Given the description of an element on the screen output the (x, y) to click on. 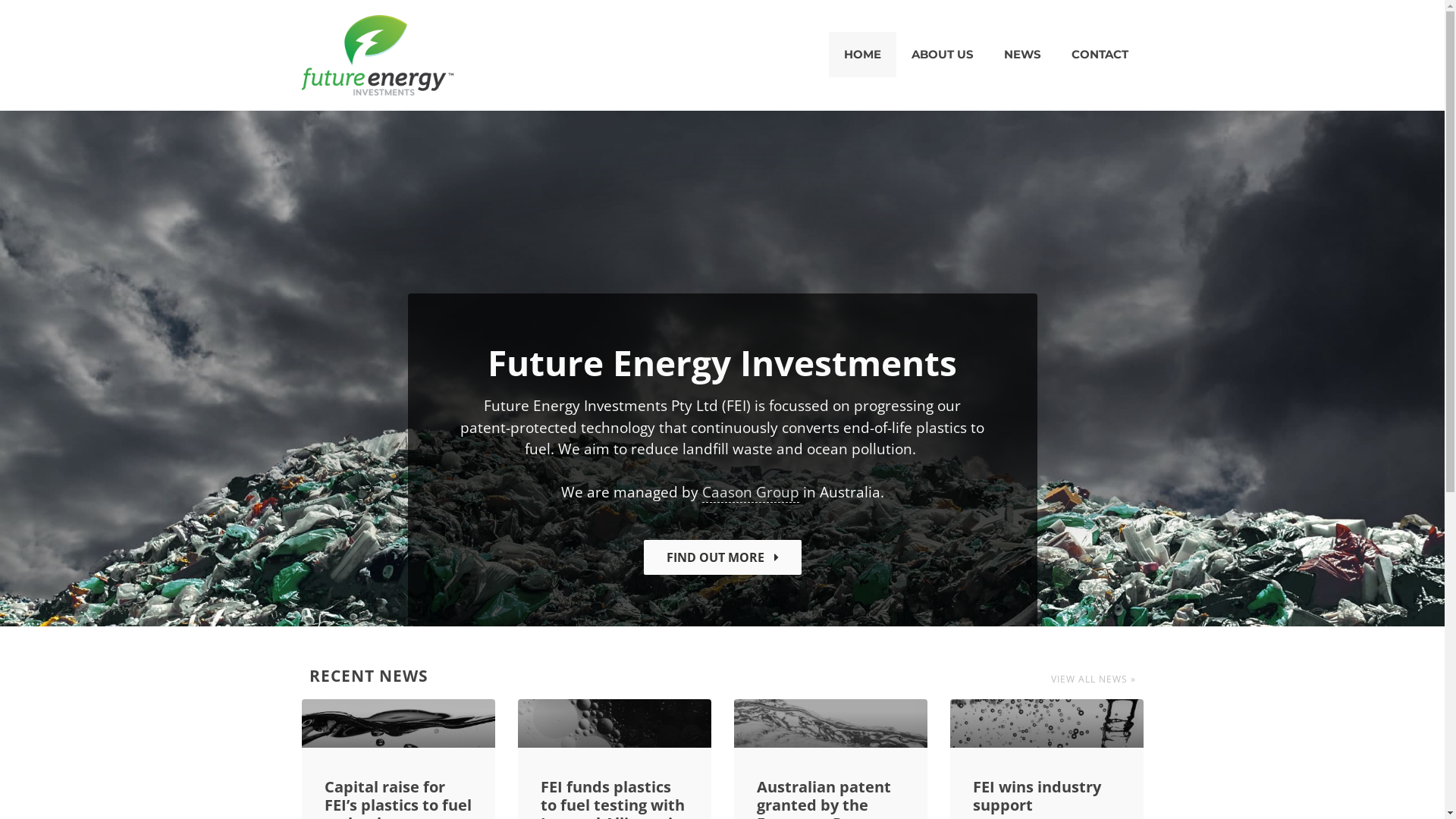
ABOUT US Element type: text (942, 54)
Caason Group Element type: text (750, 492)
CONTACT Element type: text (1098, 54)
FIND OUT MORE Element type: text (721, 556)
NEWS Element type: text (1022, 54)
FEI wins industry support Element type: text (1036, 795)
HOME Element type: text (861, 54)
